Given the description of an element on the screen output the (x, y) to click on. 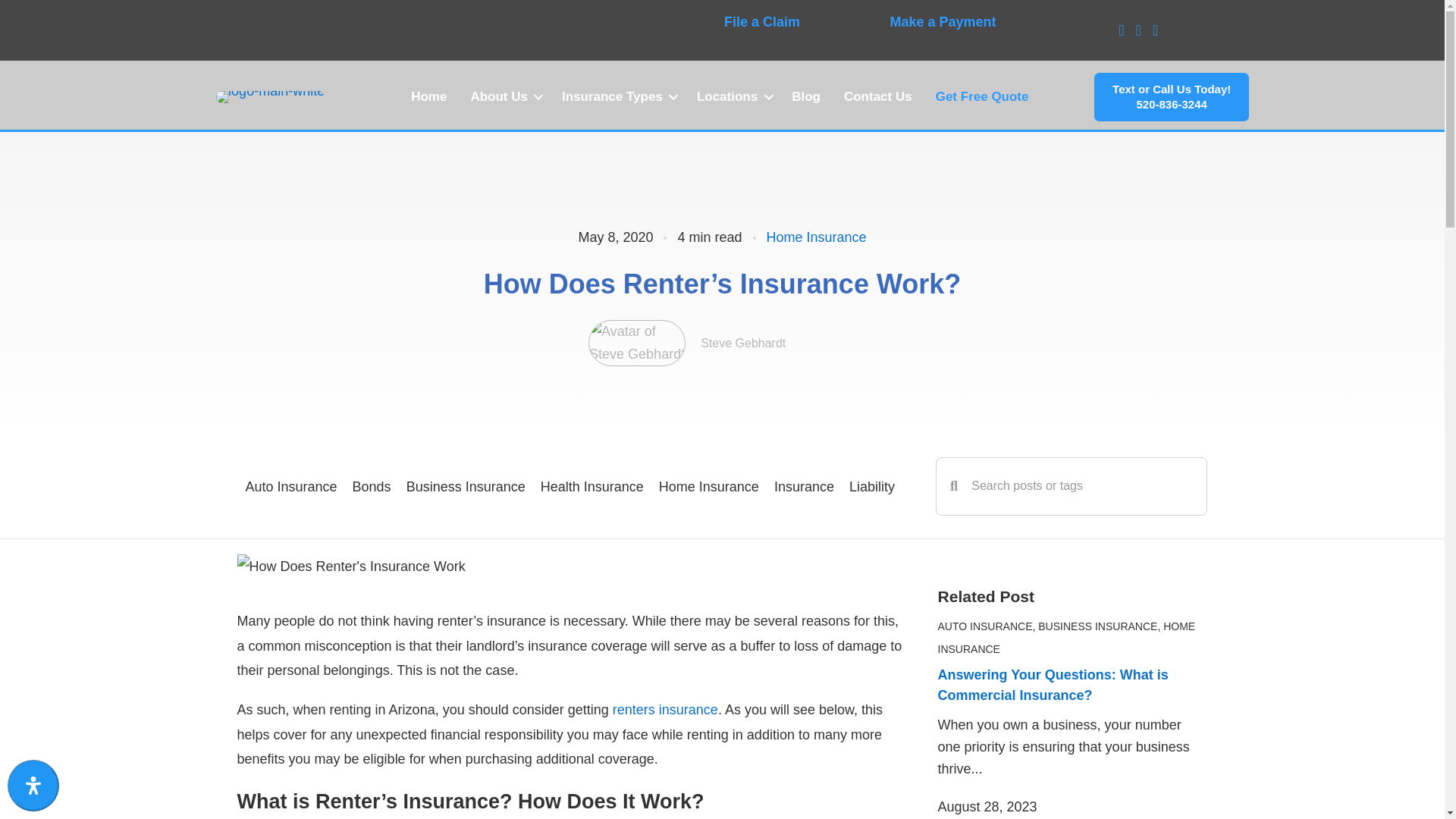
logo-main-white (269, 96)
About Us (504, 96)
Business Insurance (465, 486)
File a Claim (761, 21)
Home Insurance (708, 486)
Make a Payment (942, 21)
Insurance Types (1171, 97)
Bonds (617, 96)
Home Insurance (371, 486)
Get Free Quote (816, 237)
Health Insurance (982, 96)
How Does Renter's Insurance Work? 1 (591, 486)
Auto Insurance (349, 566)
Contact Us (291, 486)
